Given the description of an element on the screen output the (x, y) to click on. 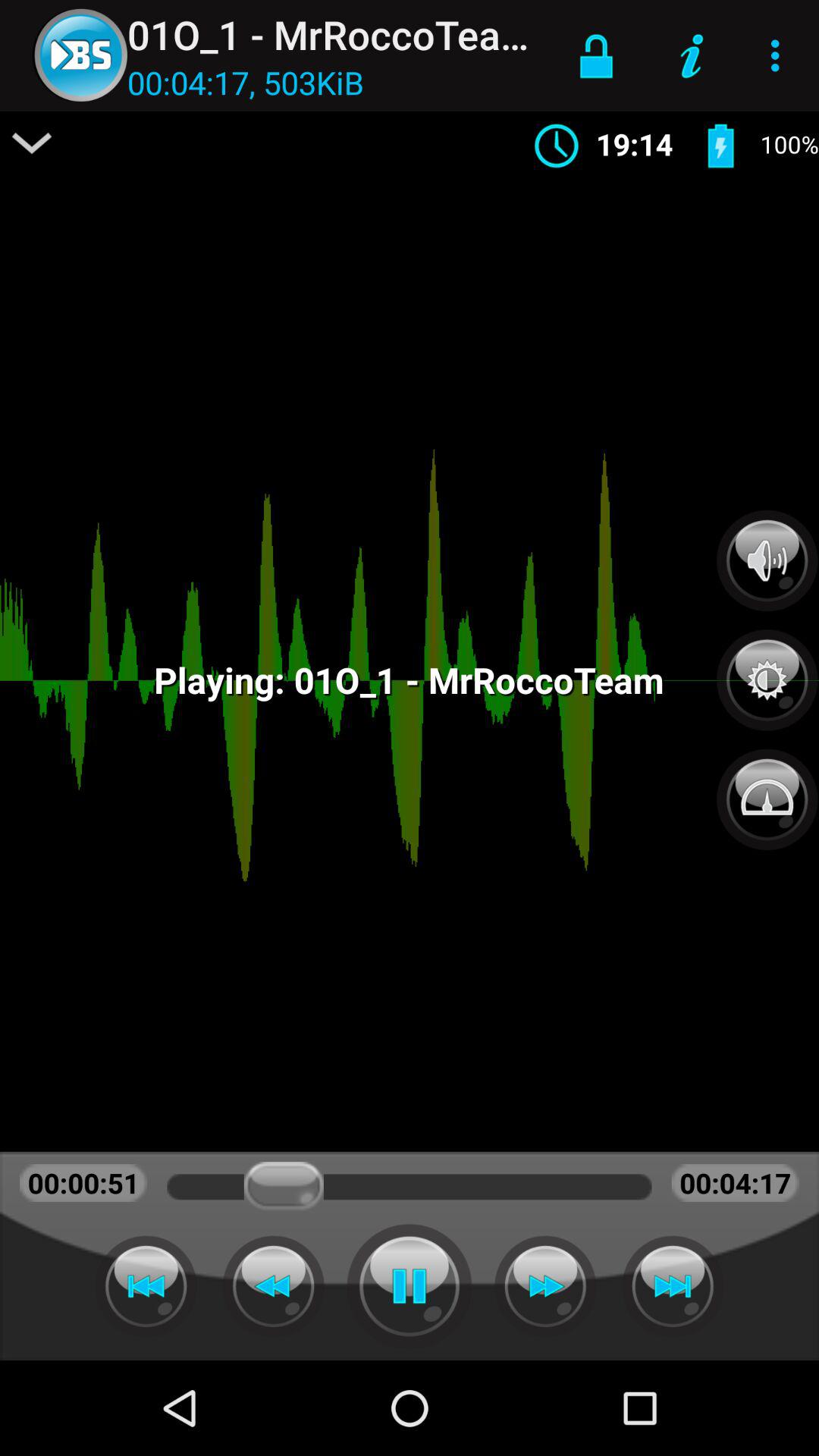
fast forward the track (545, 1286)
